Given the description of an element on the screen output the (x, y) to click on. 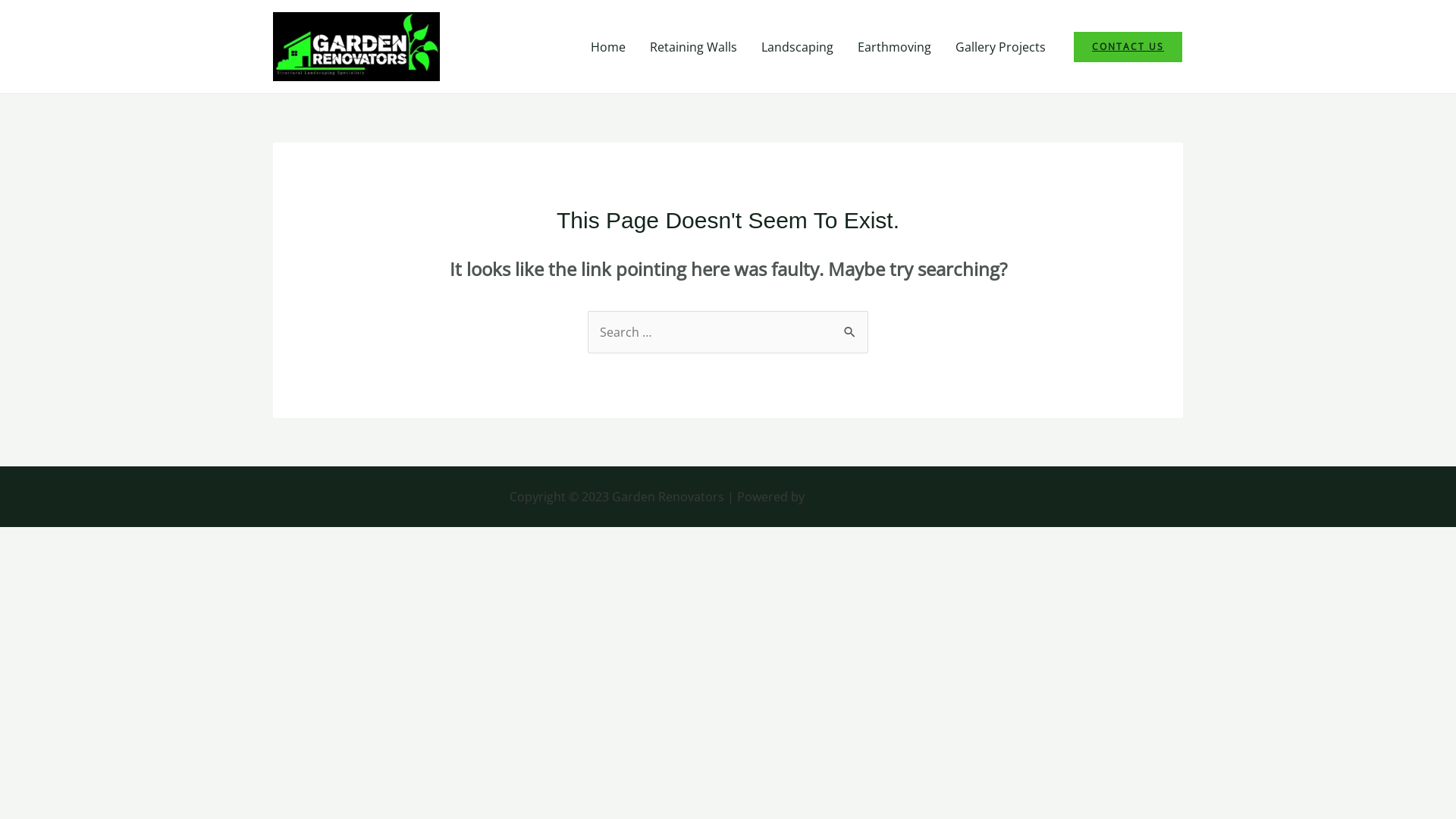
CONTACT US Element type: text (1128, 46)
Search Element type: text (851, 324)
Retaining Walls Element type: text (693, 45)
Landscaping Element type: text (797, 45)
Astra WordPress Theme Element type: text (876, 496)
Home Element type: text (607, 45)
Gallery Projects Element type: text (1000, 45)
Earthmoving Element type: text (894, 45)
